Given the description of an element on the screen output the (x, y) to click on. 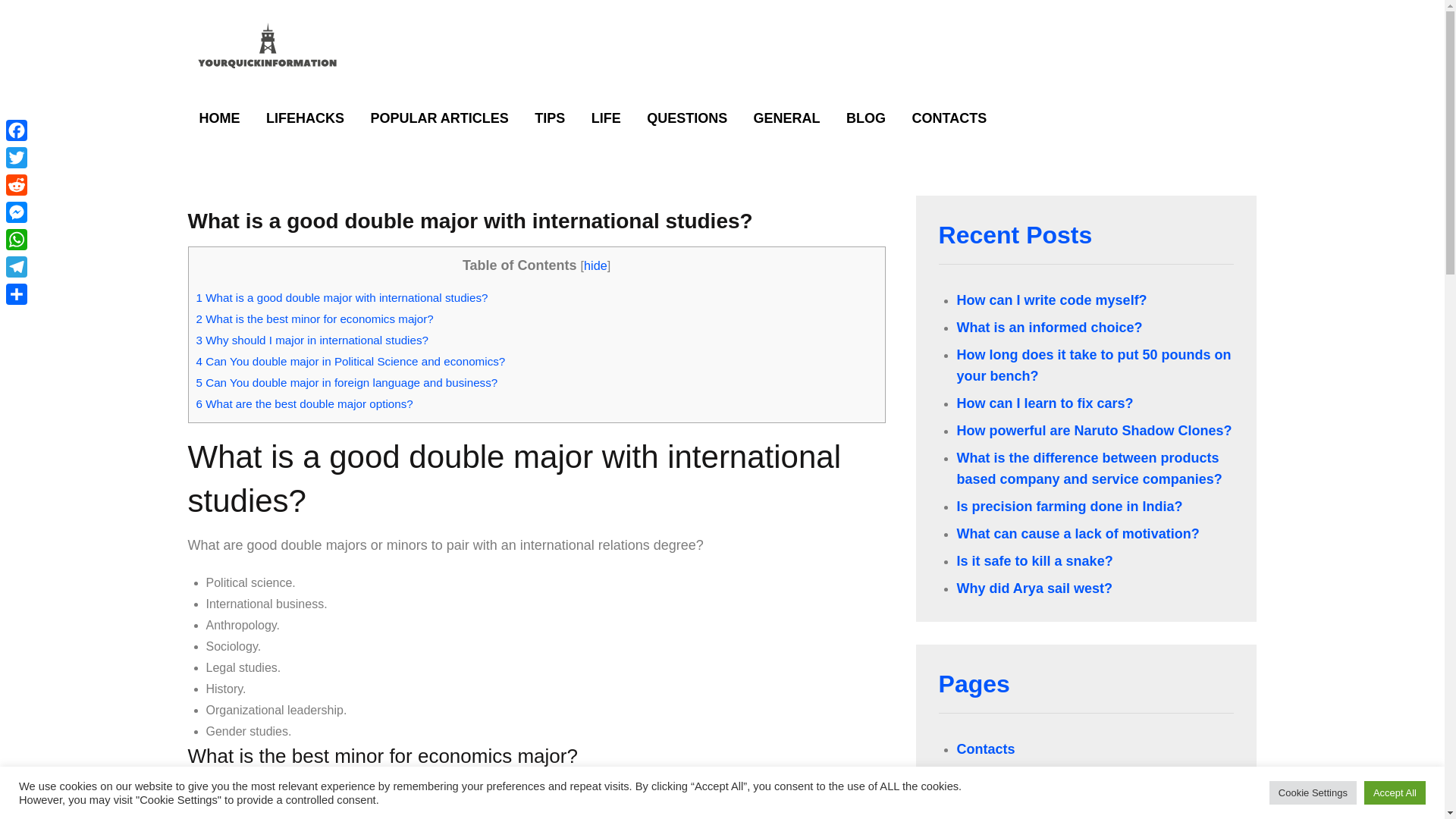
BLOG (865, 118)
POPULAR ARTICLES (438, 118)
WhatsApp (16, 239)
What is an informed choice? (1049, 327)
Facebook (16, 130)
How can I write code myself? (1051, 299)
QUESTIONS (686, 118)
Telegram (16, 266)
HOME (219, 118)
LIFEHACKS (304, 118)
2 What is the best minor for economics major? (313, 318)
How can I learn to fix cars? (1045, 403)
Reddit (16, 185)
5 Can You double major in foreign language and business? (346, 382)
Messenger (16, 212)
